Given the description of an element on the screen output the (x, y) to click on. 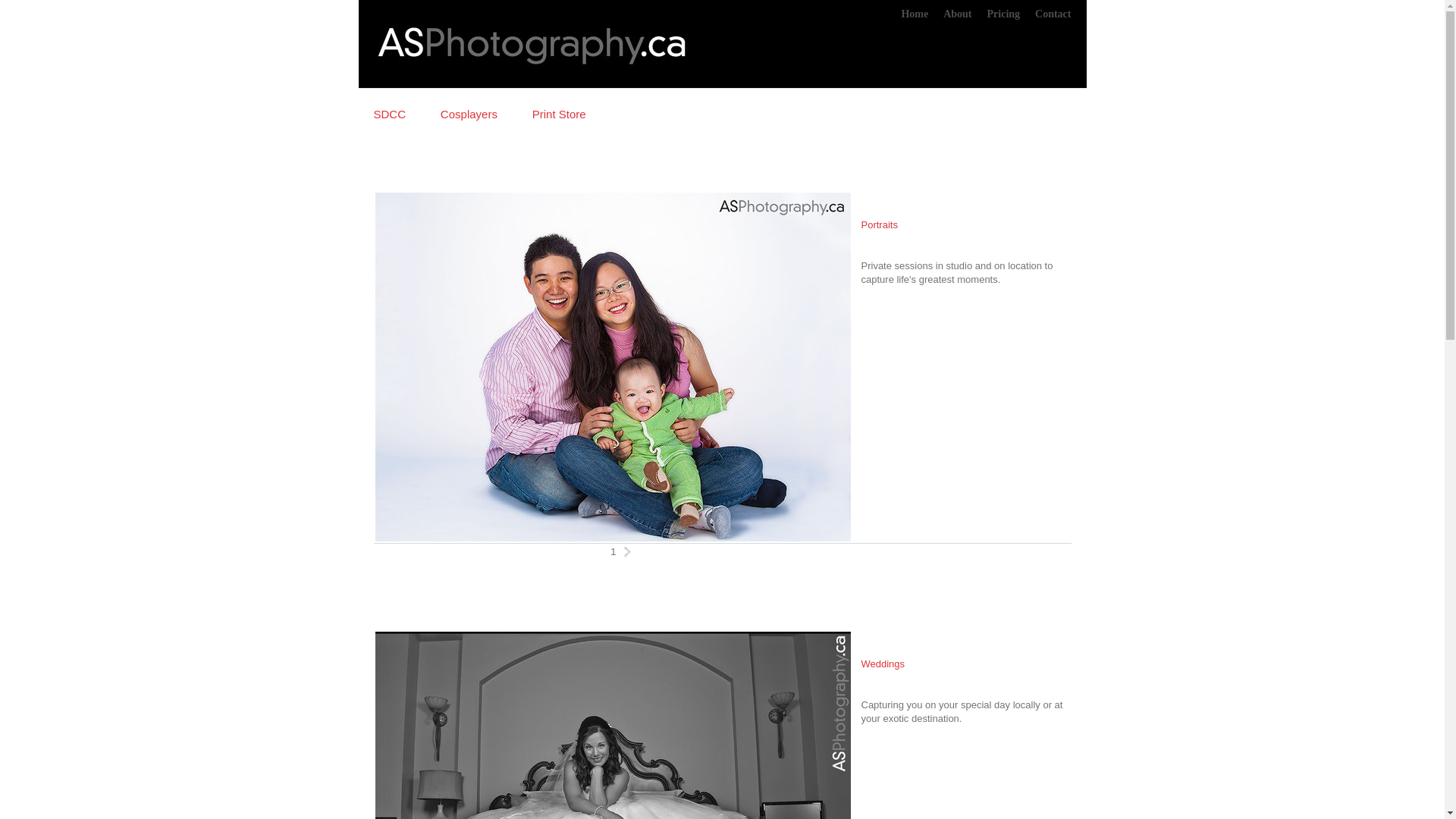
Print Store Element type: text (559, 113)
SDCC Element type: text (389, 113)
About Element type: text (957, 13)
Pricing Element type: text (1003, 13)
Cosplayers Element type: text (468, 113)
Contact Element type: text (1052, 13)
Portraits Element type: text (879, 224)
Weddings Element type: text (883, 663)
Home Element type: text (914, 13)
